Given the description of an element on the screen output the (x, y) to click on. 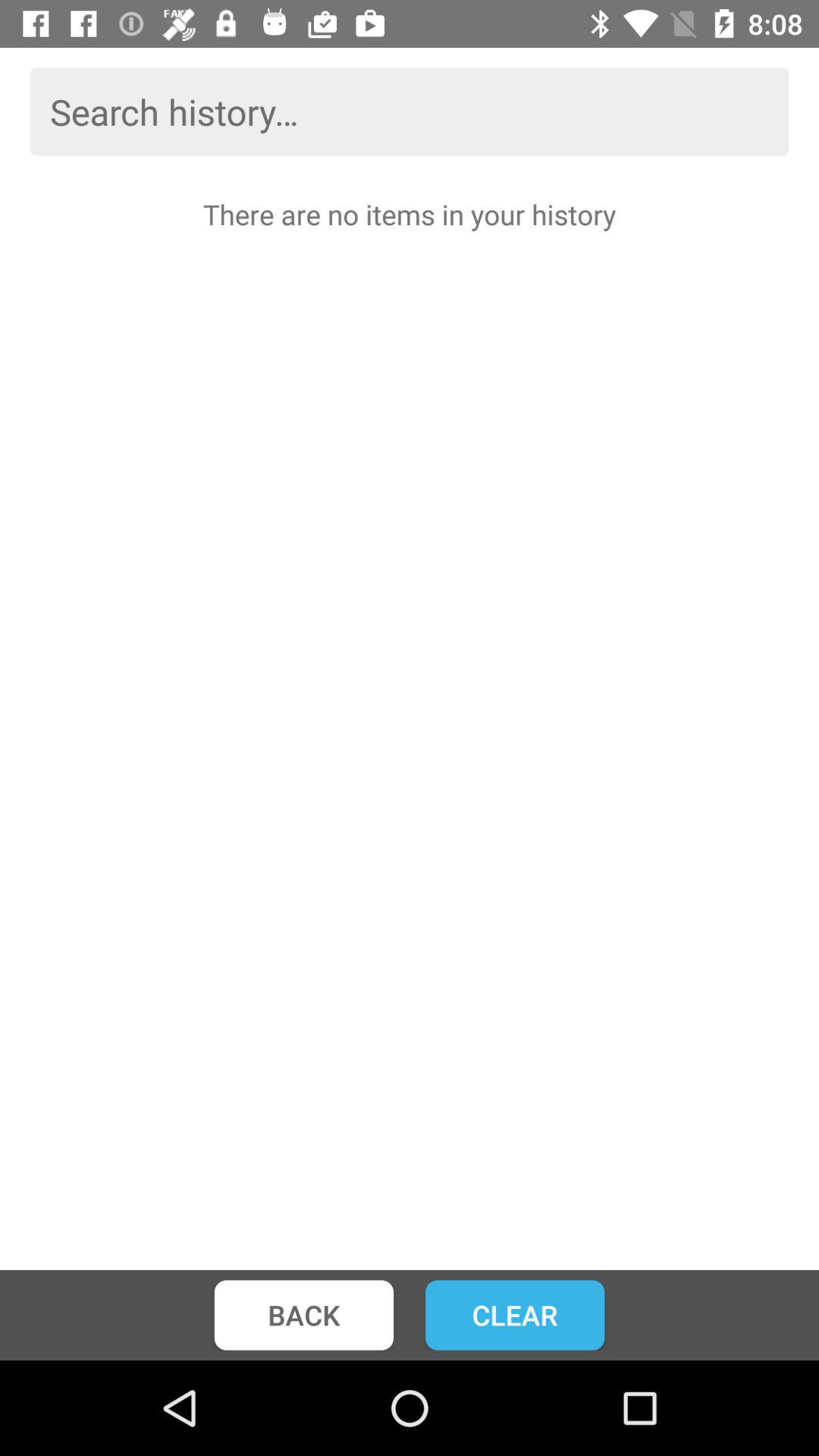
press icon to the right of back icon (514, 1315)
